Given the description of an element on the screen output the (x, y) to click on. 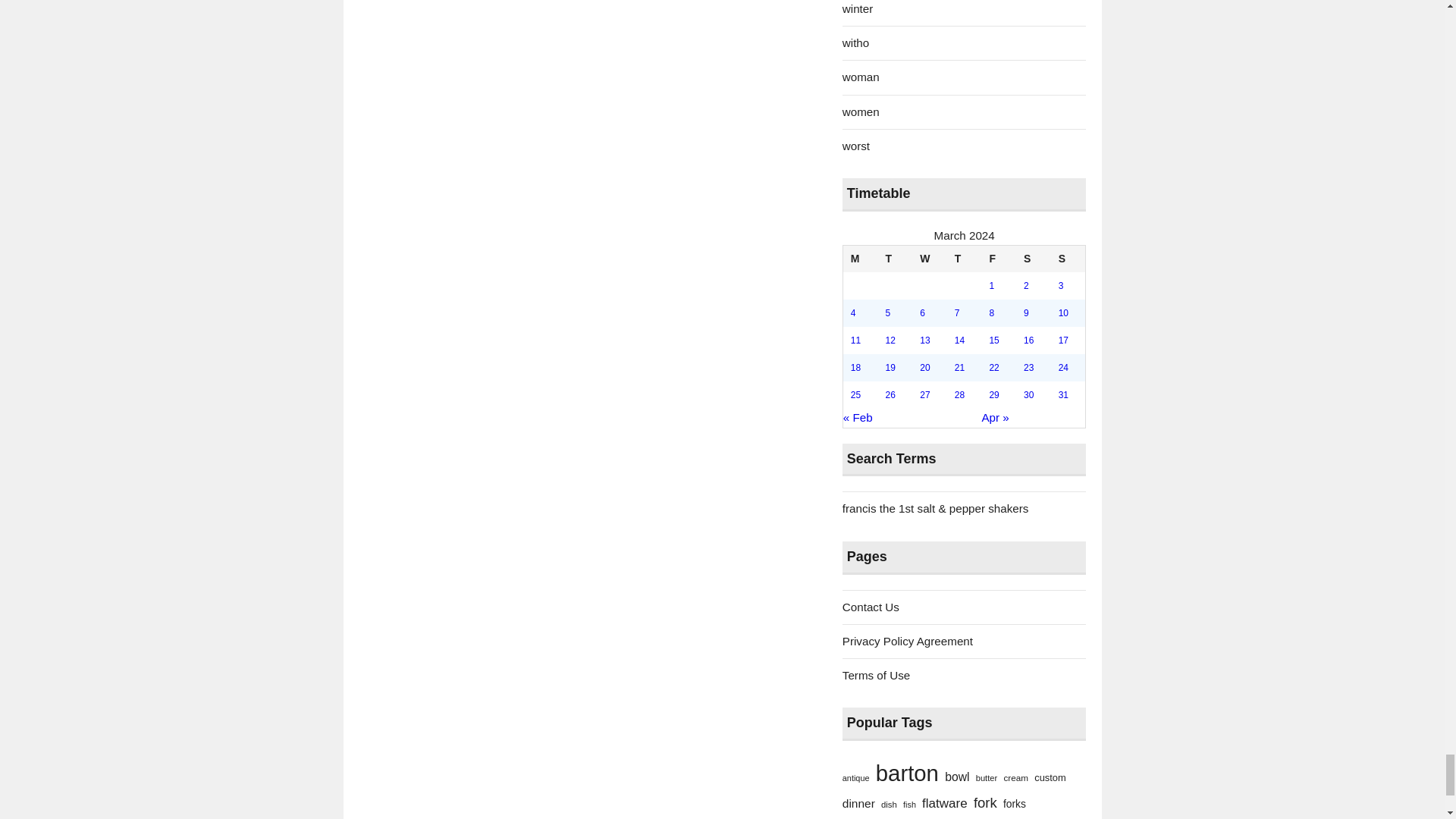
Sunday (1068, 258)
Saturday (1033, 258)
Friday (998, 258)
Tuesday (894, 258)
Monday (860, 258)
Thursday (964, 258)
Wednesday (929, 258)
